Given the description of an element on the screen output the (x, y) to click on. 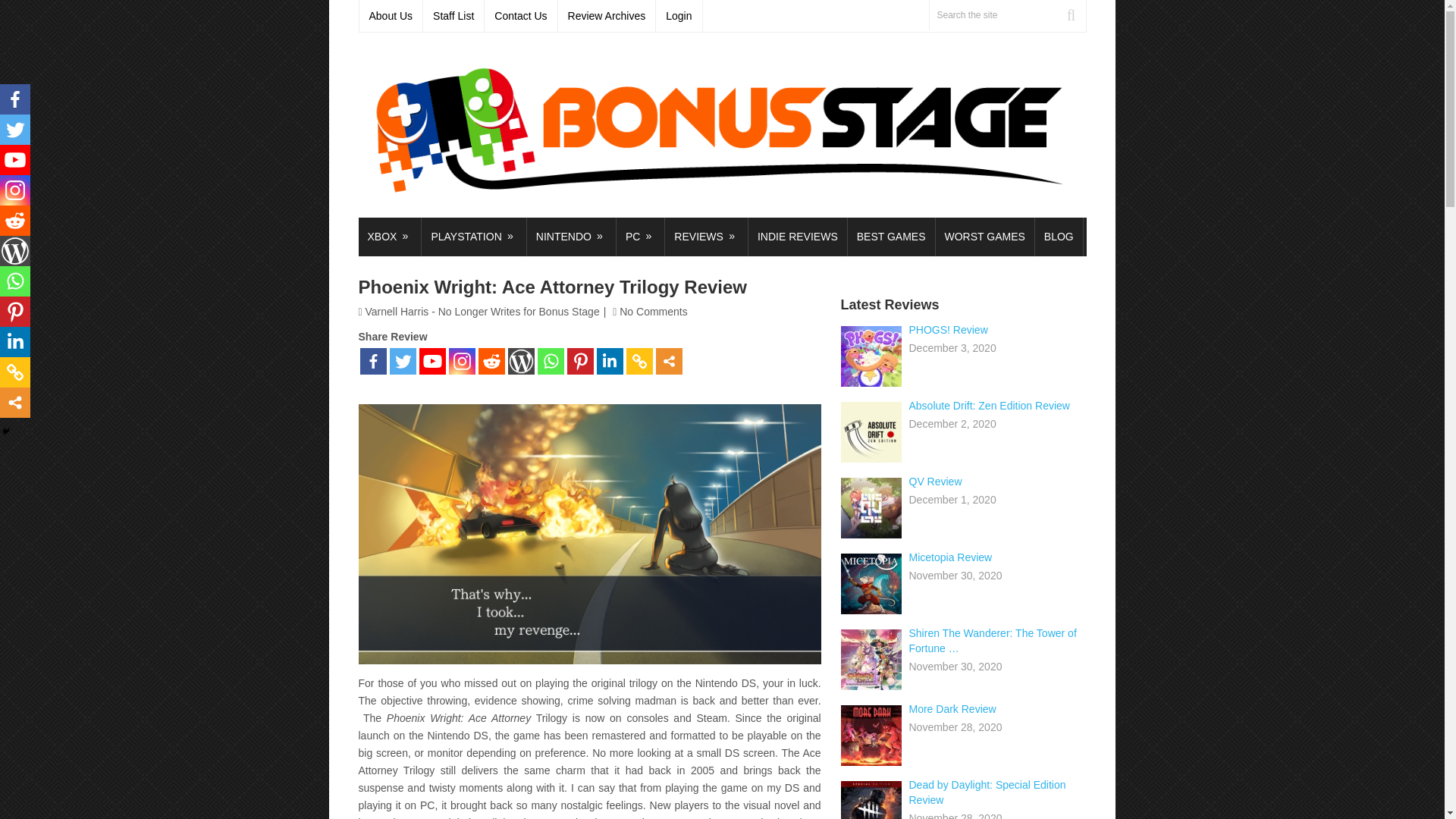
Staff List (453, 15)
REVIEWS (706, 236)
XBOX (389, 236)
Login (678, 15)
PC (639, 236)
NINTENDO (571, 236)
About Us (391, 15)
Contact Us (520, 15)
Review Archives (606, 15)
PLAYSTATION (473, 236)
